Given the description of an element on the screen output the (x, y) to click on. 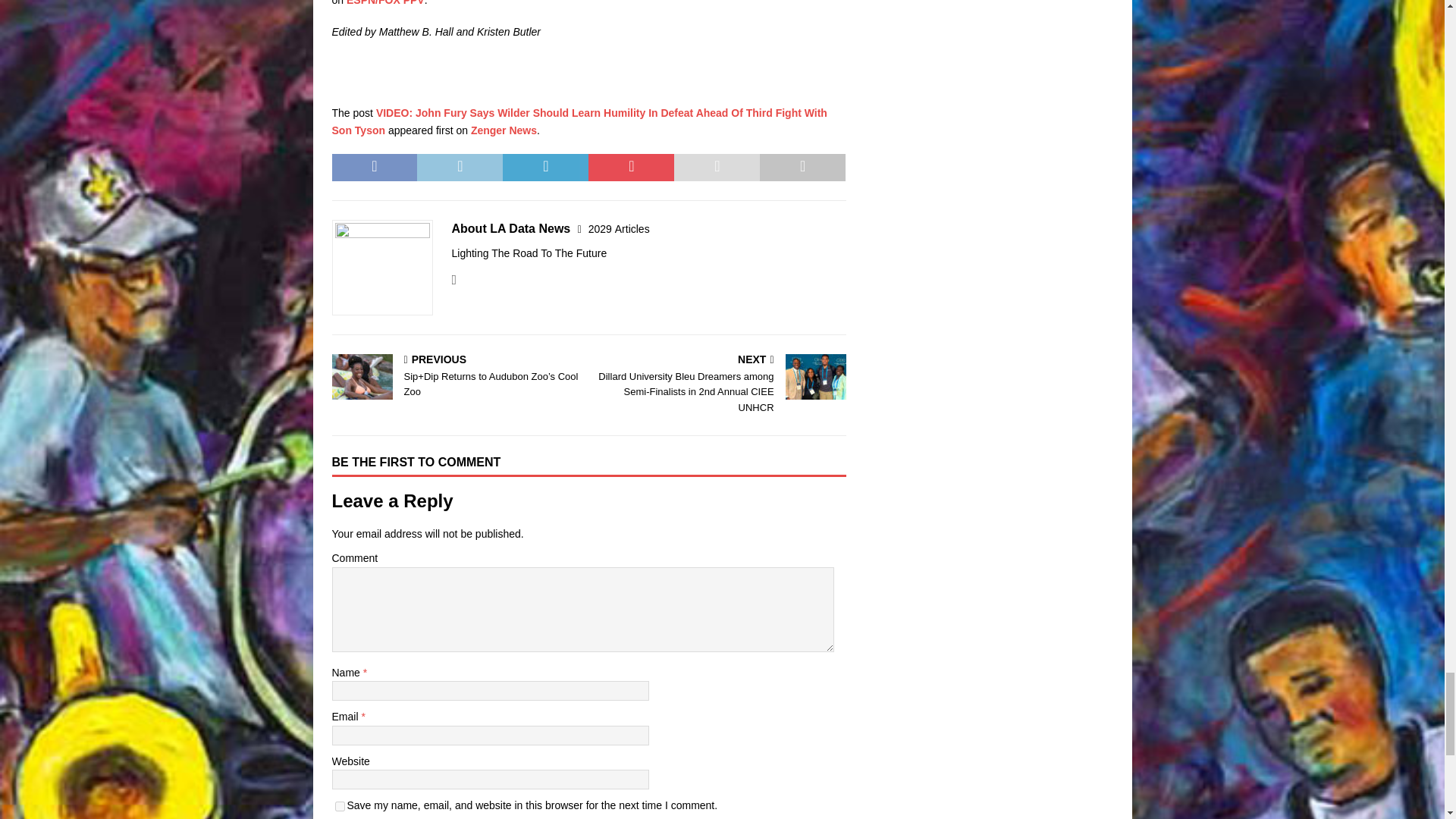
yes (339, 806)
